Given the description of an element on the screen output the (x, y) to click on. 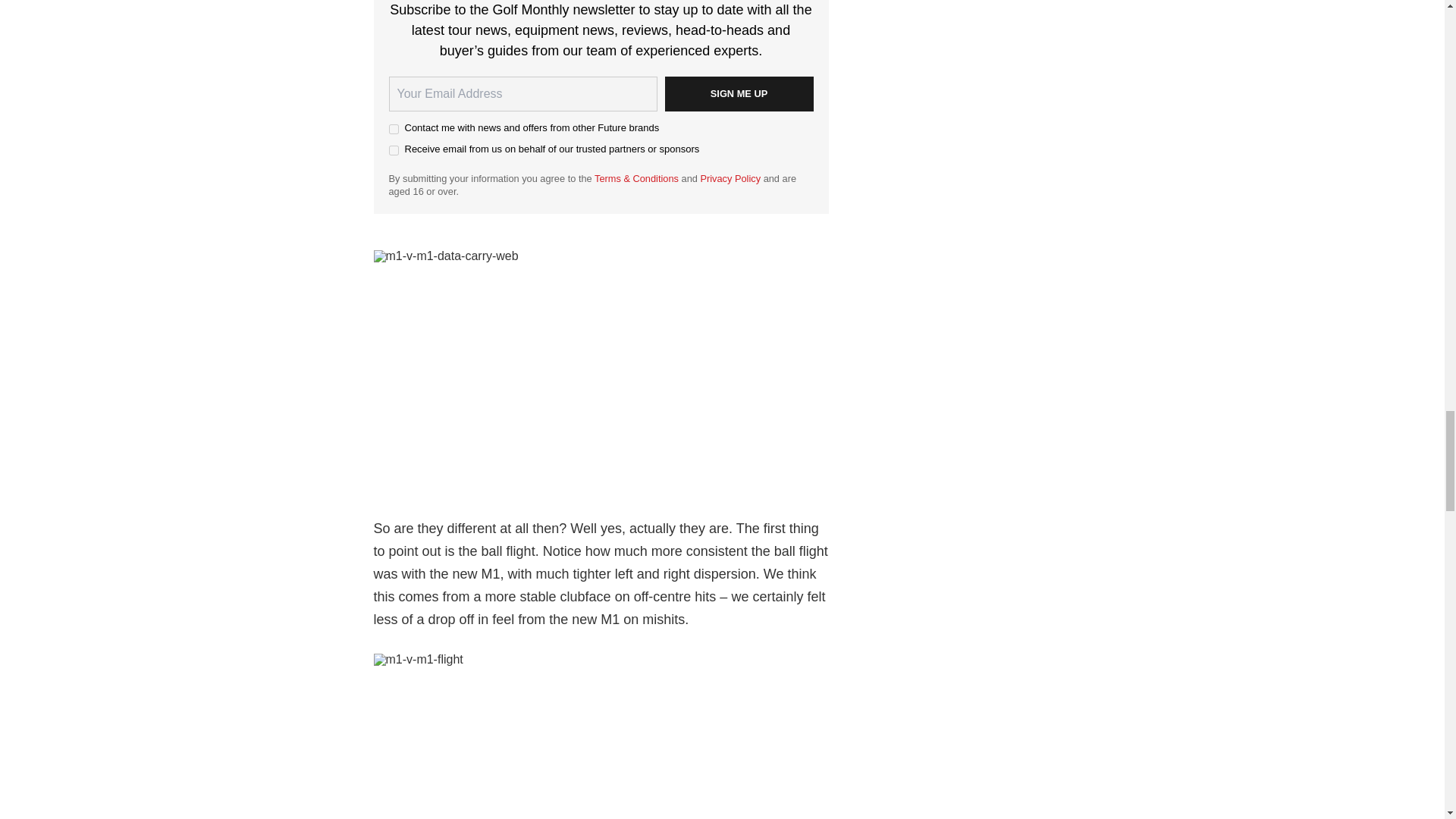
on (392, 150)
on (392, 129)
Sign me up (737, 93)
